Given the description of an element on the screen output the (x, y) to click on. 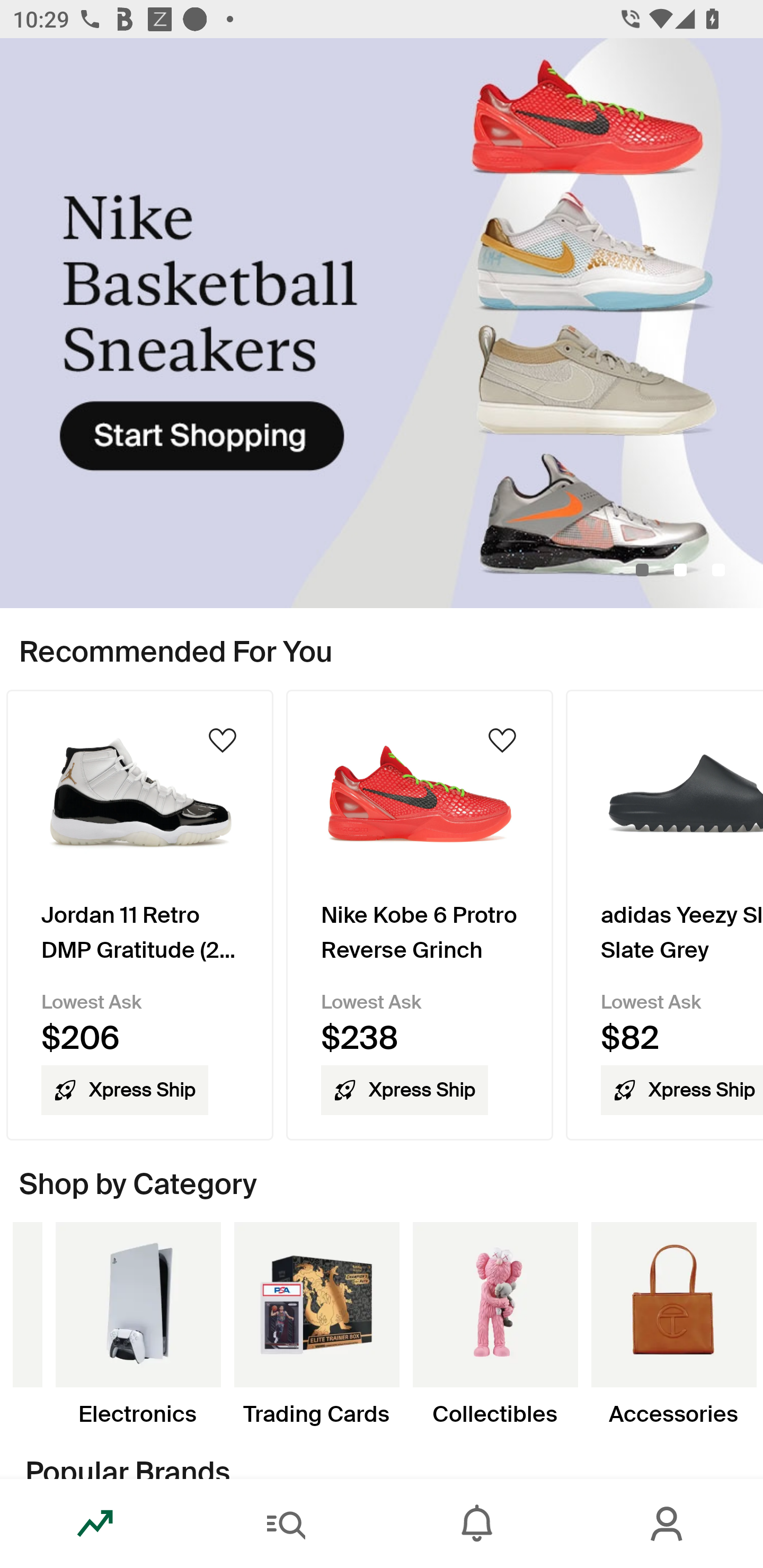
NikeBasketballSprint_Followup_Primary_Mobile.jpg (381, 322)
Product Image Electronics (137, 1324)
Product Image Trading Cards (316, 1324)
Product Image Collectibles (495, 1324)
Product Image Accessories (673, 1324)
Search (285, 1523)
Inbox (476, 1523)
Account (667, 1523)
